Given the description of an element on the screen output the (x, y) to click on. 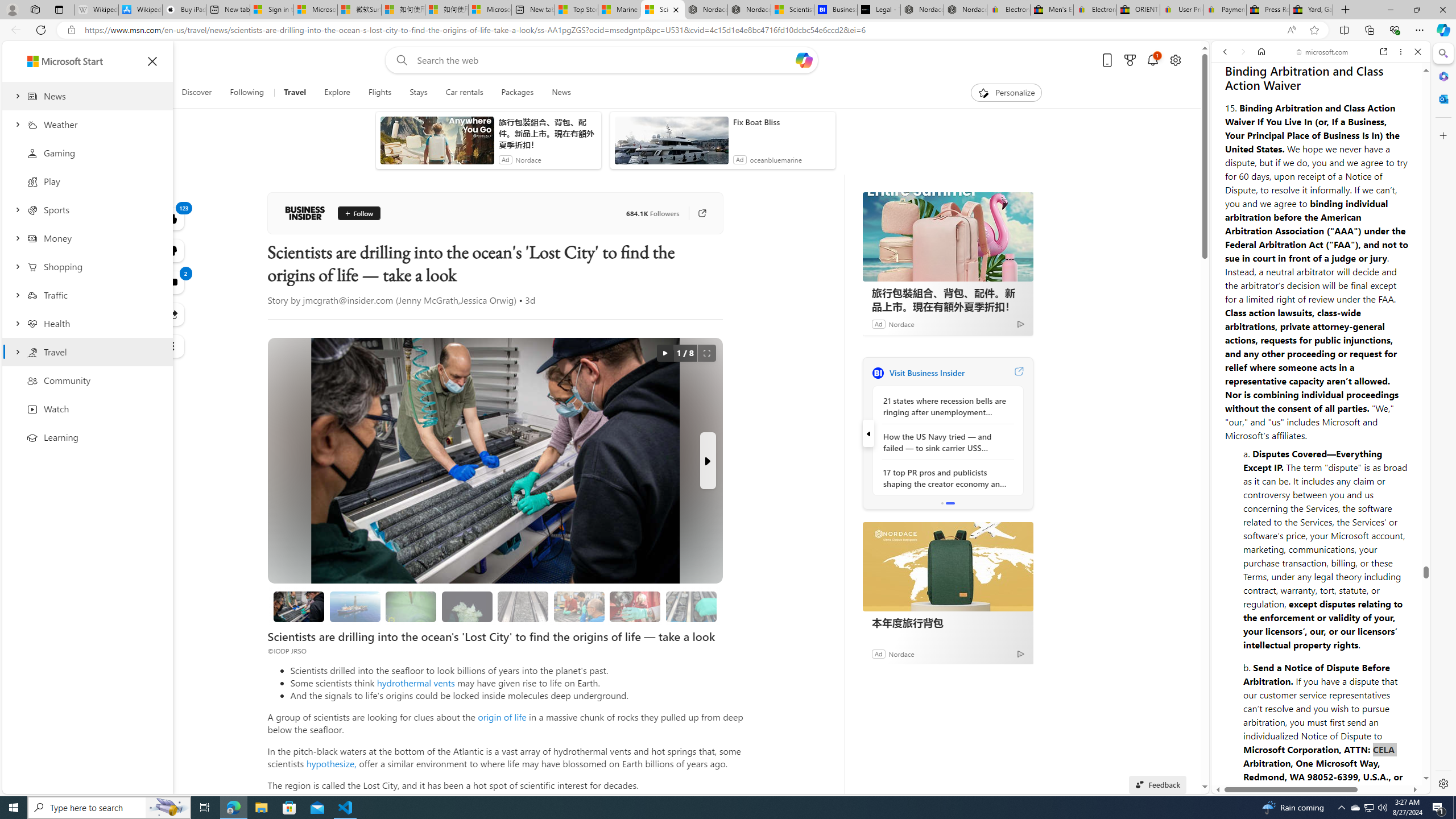
hypothesize, (330, 763)
Go to publisher's site (701, 213)
microsoft.com (1323, 51)
Researchers are still studying the samples (691, 606)
Close menu (151, 61)
Fix Boat Bliss (781, 121)
